Given the description of an element on the screen output the (x, y) to click on. 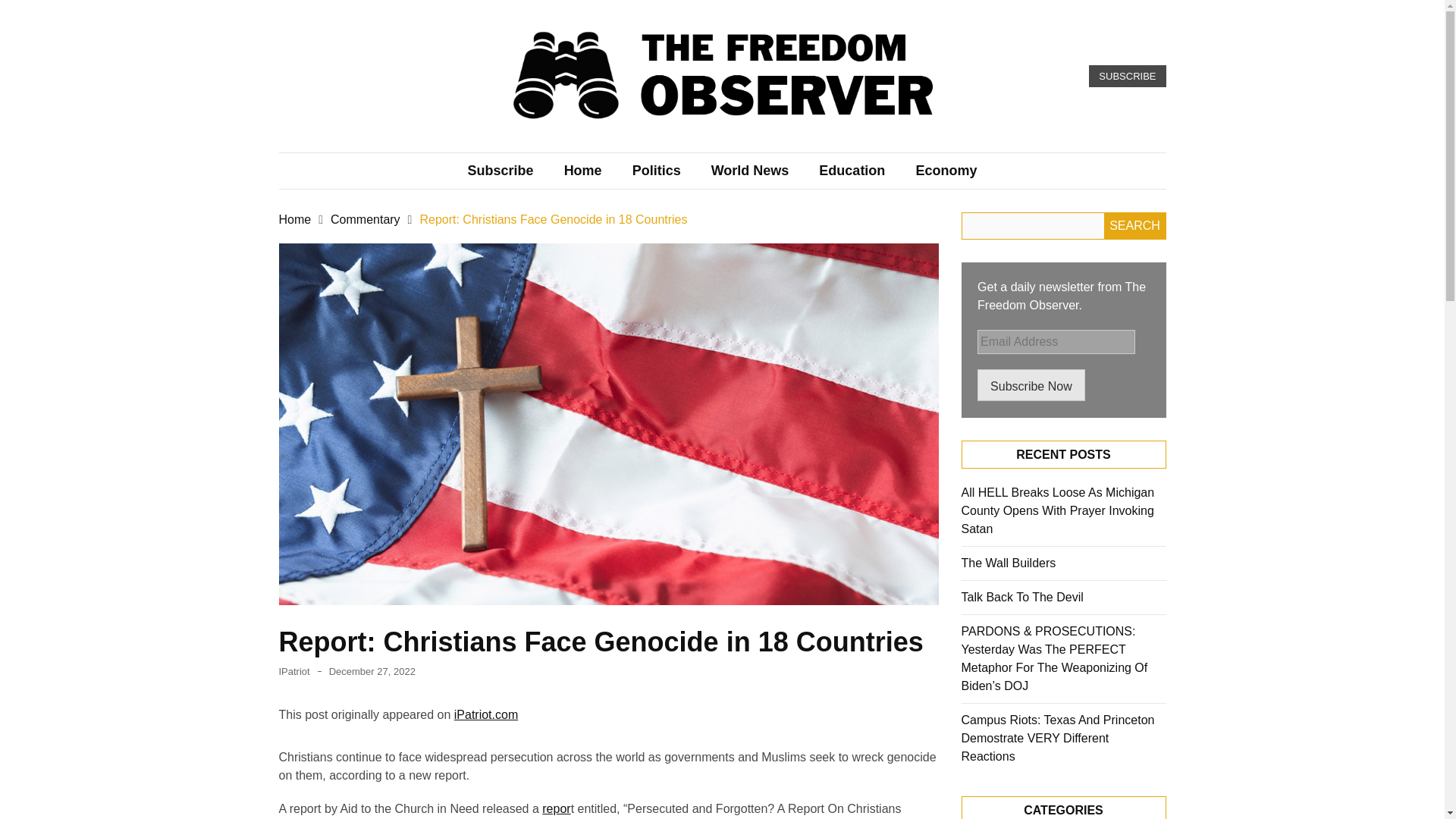
iPatriot.com (486, 714)
SUBSCRIBE (1127, 76)
repor (555, 808)
December 27, 2022 (371, 671)
Economy (945, 170)
Commentary (365, 219)
Report: Christians Face Genocide in 18 Countries (553, 219)
Politics (656, 170)
Education (851, 170)
IPatriot (294, 671)
